Given the description of an element on the screen output the (x, y) to click on. 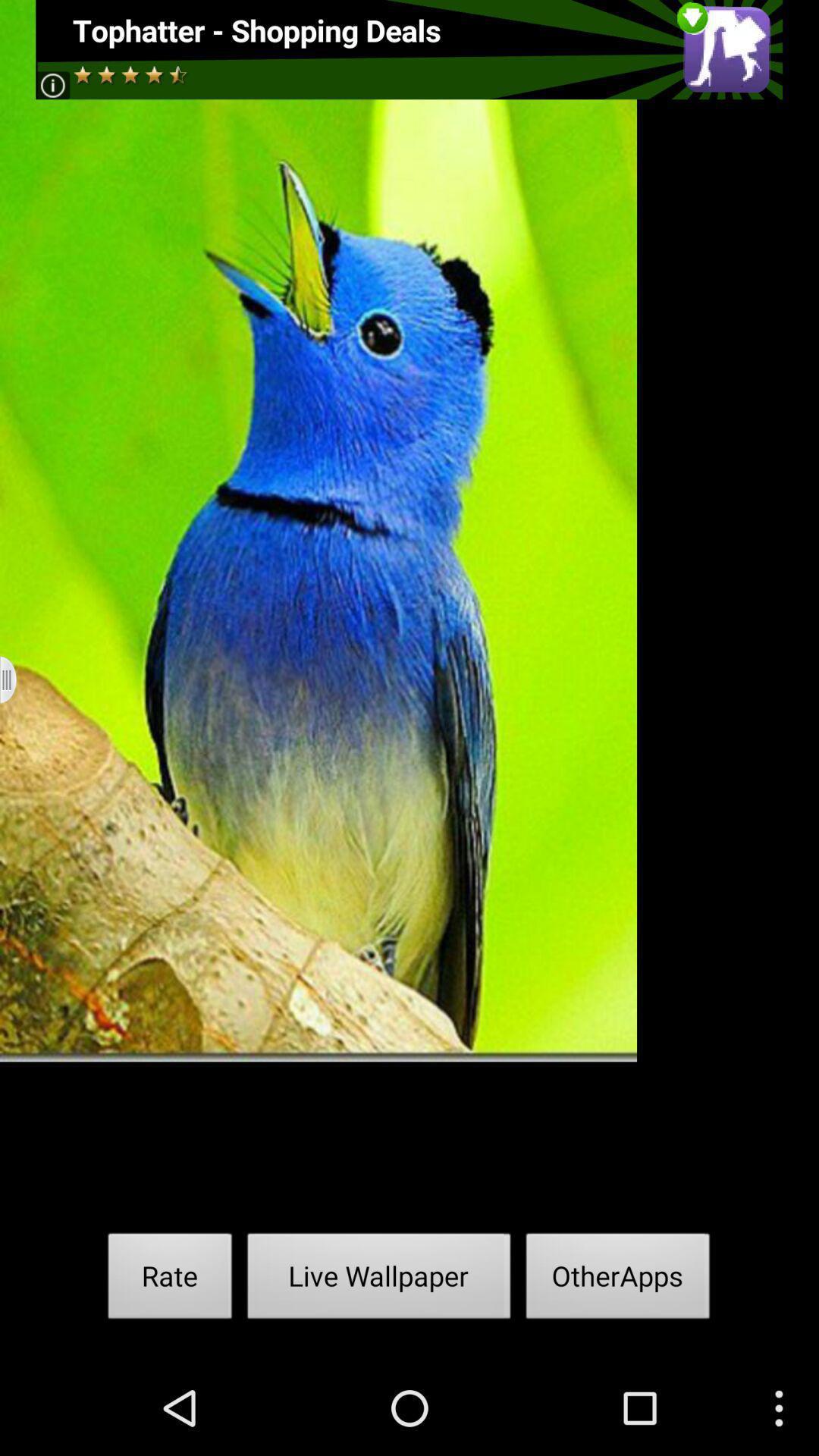
select option (18, 679)
